Given the description of an element on the screen output the (x, y) to click on. 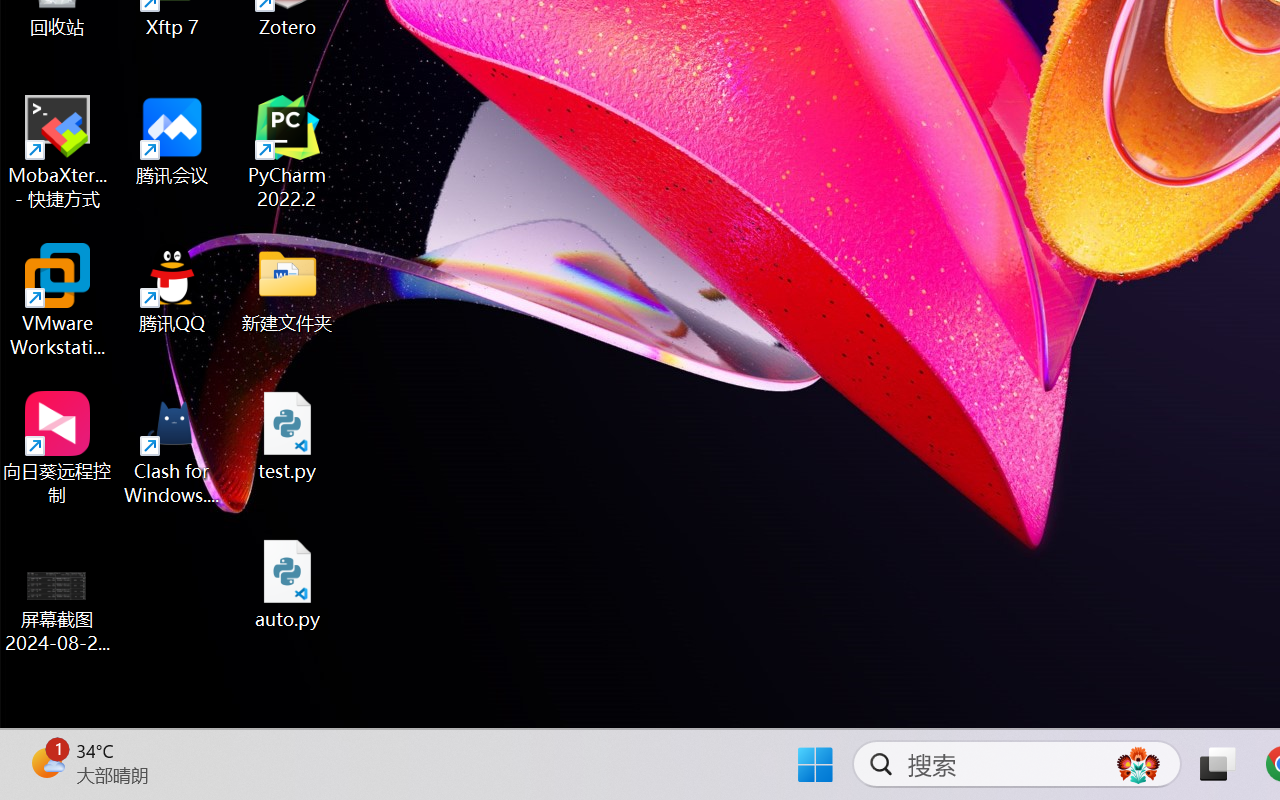
auto.py (287, 584)
VMware Workstation Pro (57, 300)
PyCharm 2022.2 (287, 152)
test.py (287, 436)
